Given the description of an element on the screen output the (x, y) to click on. 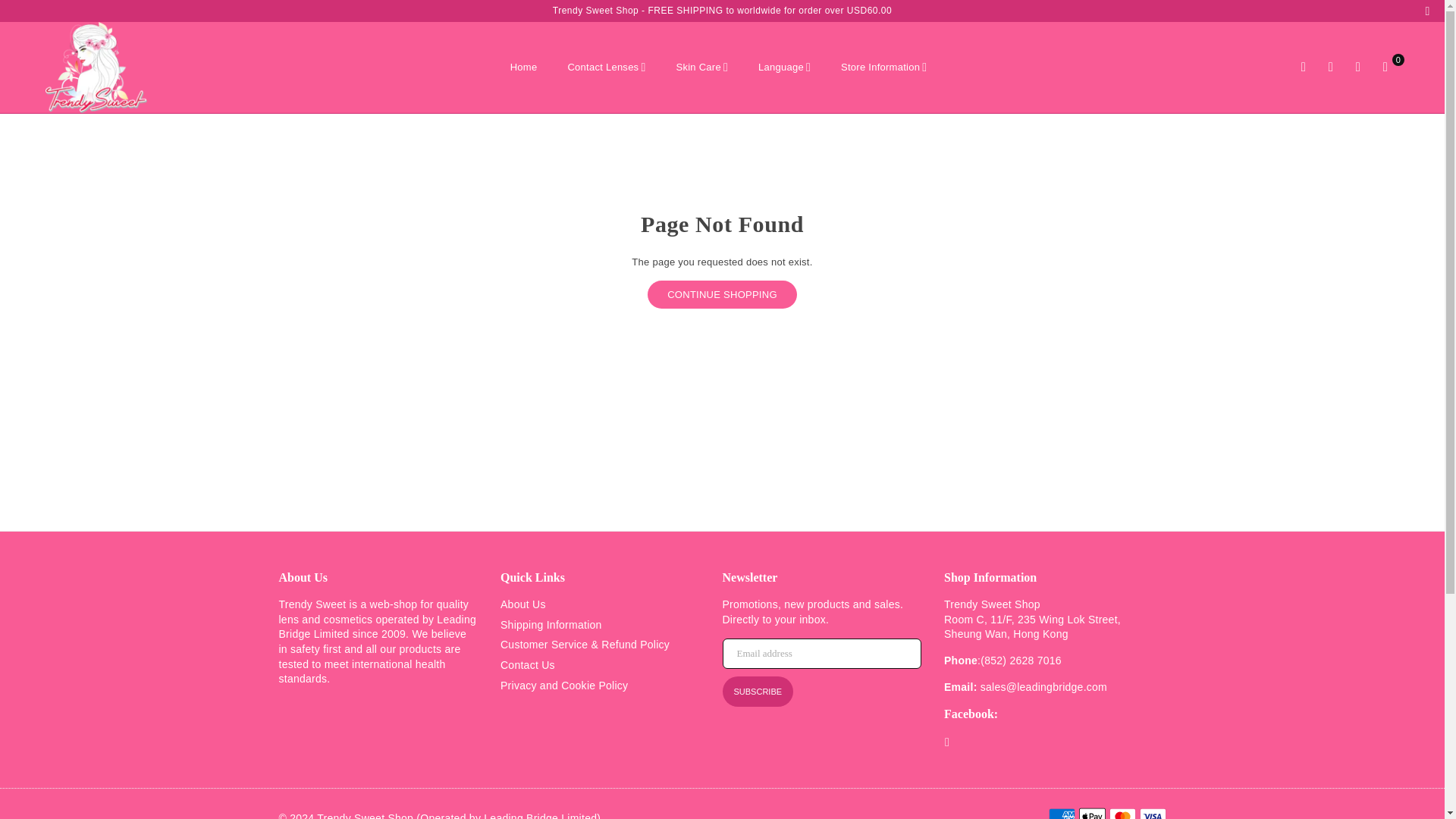
Search (1303, 67)
TRENDY SWEET SHOP (109, 67)
Visa (1152, 813)
Contact Lenses (606, 66)
Wishlist (1357, 67)
Mastercard (1121, 813)
Trendy Sweet Shop on Facebook (947, 742)
Cart (1385, 67)
Apple Pay (1091, 813)
Home (523, 66)
